Given the description of an element on the screen output the (x, y) to click on. 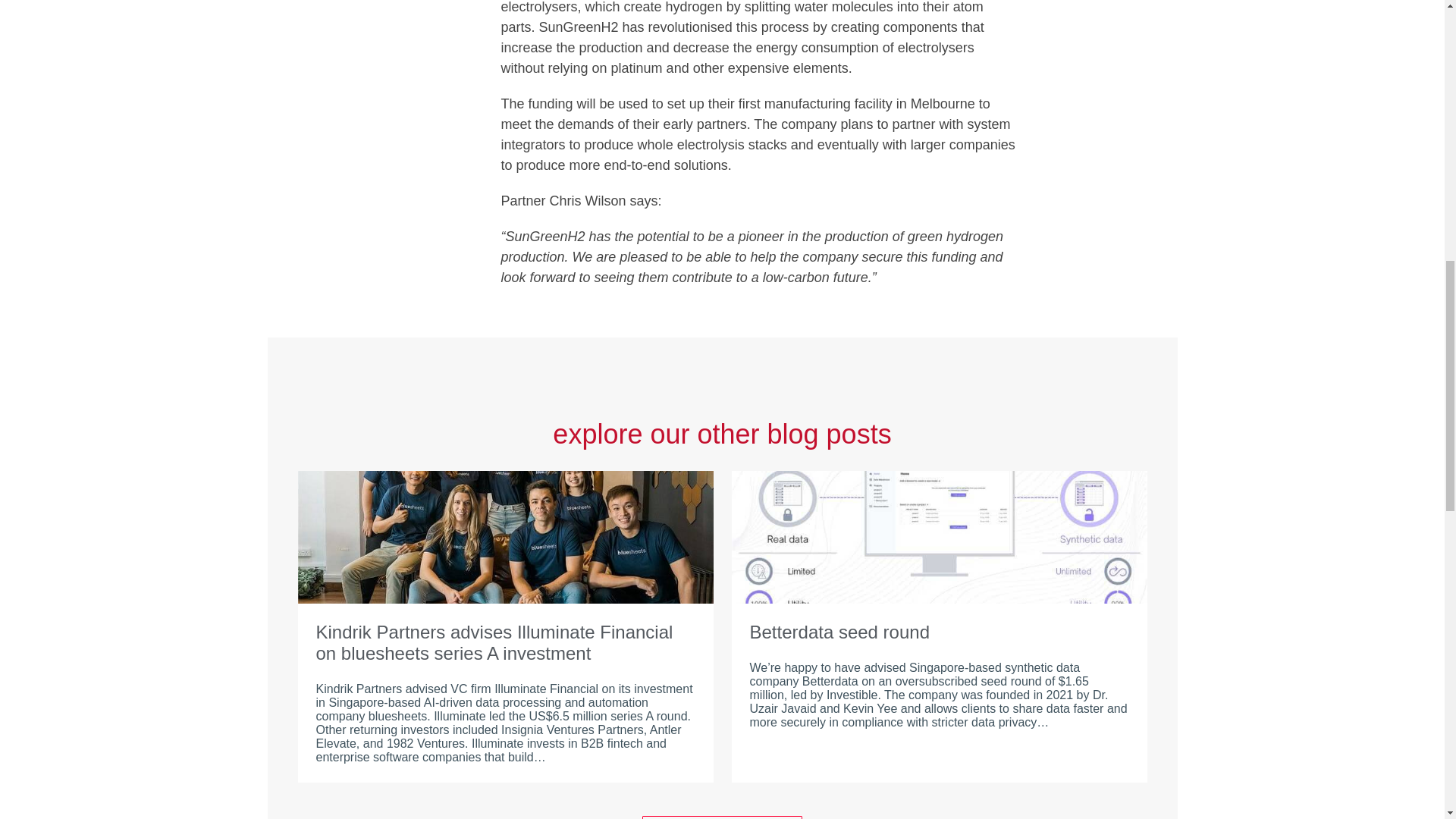
Betterdata seed round (938, 631)
read more from our blog (722, 817)
